Given the description of an element on the screen output the (x, y) to click on. 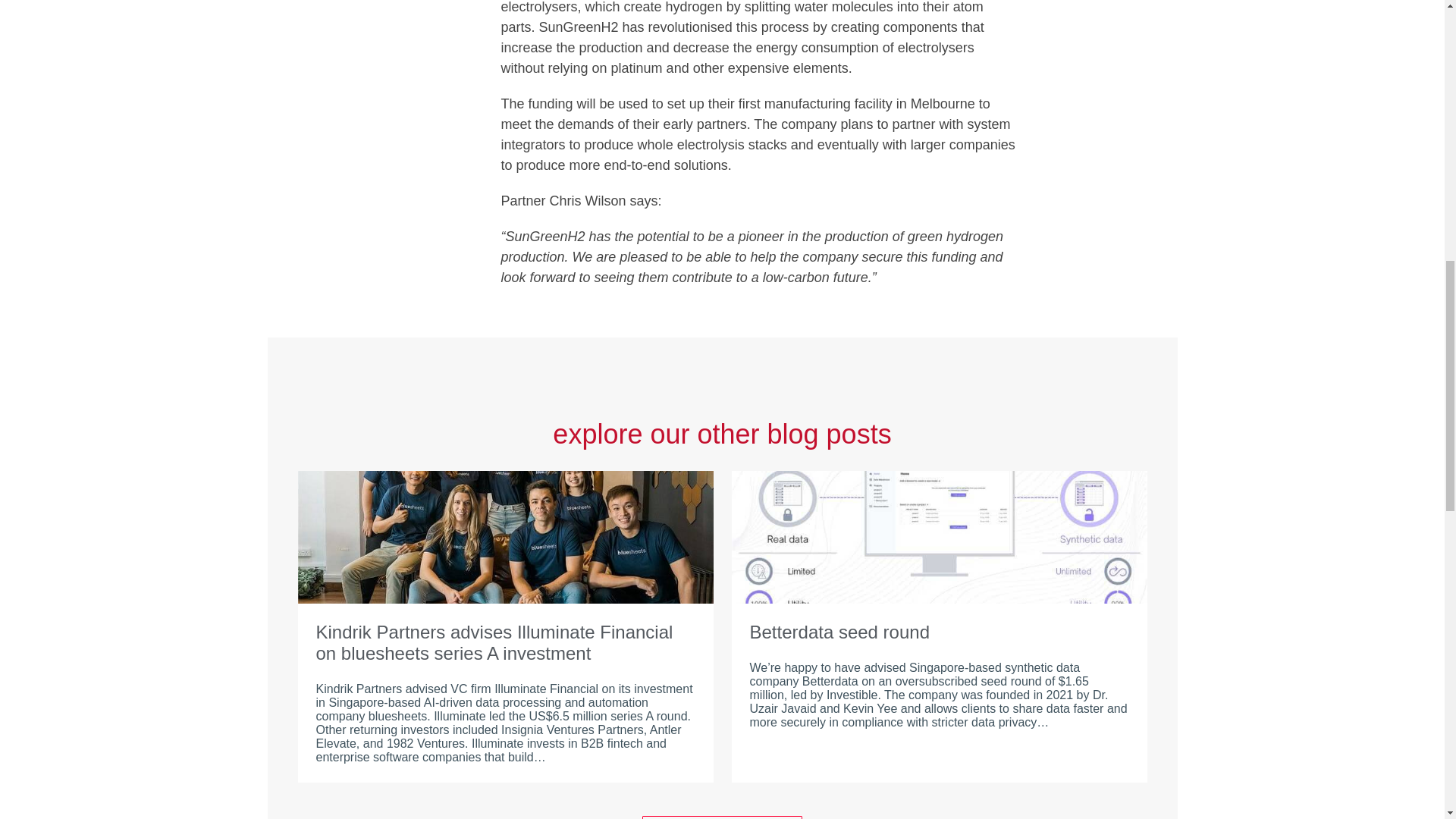
Betterdata seed round (938, 631)
read more from our blog (722, 817)
